Given the description of an element on the screen output the (x, y) to click on. 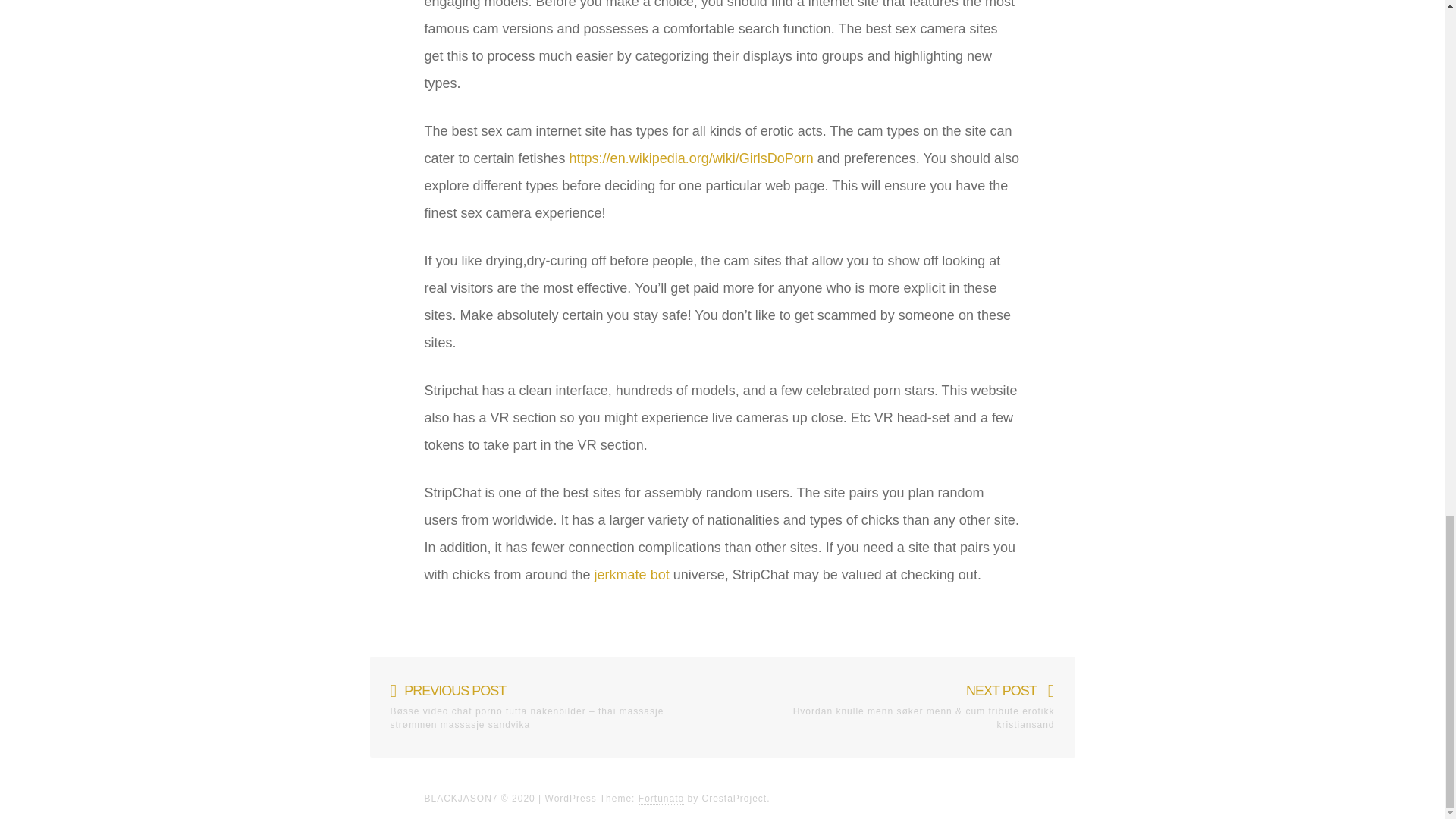
Fortunato (661, 798)
Fortunato Theme (661, 798)
jerkmate bot (631, 574)
